Given the description of an element on the screen output the (x, y) to click on. 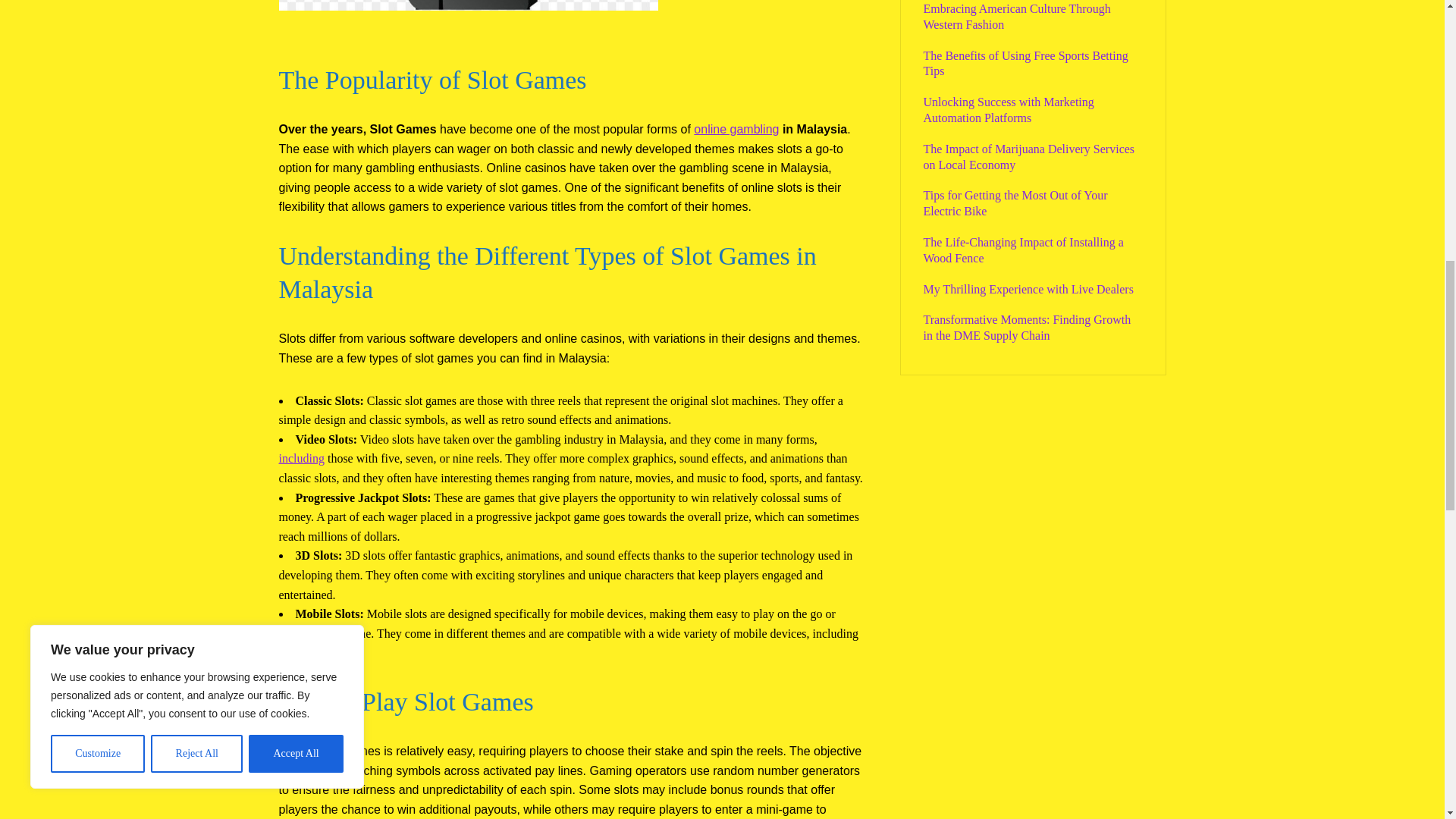
including (301, 458)
online gambling (736, 128)
